Given the description of an element on the screen output the (x, y) to click on. 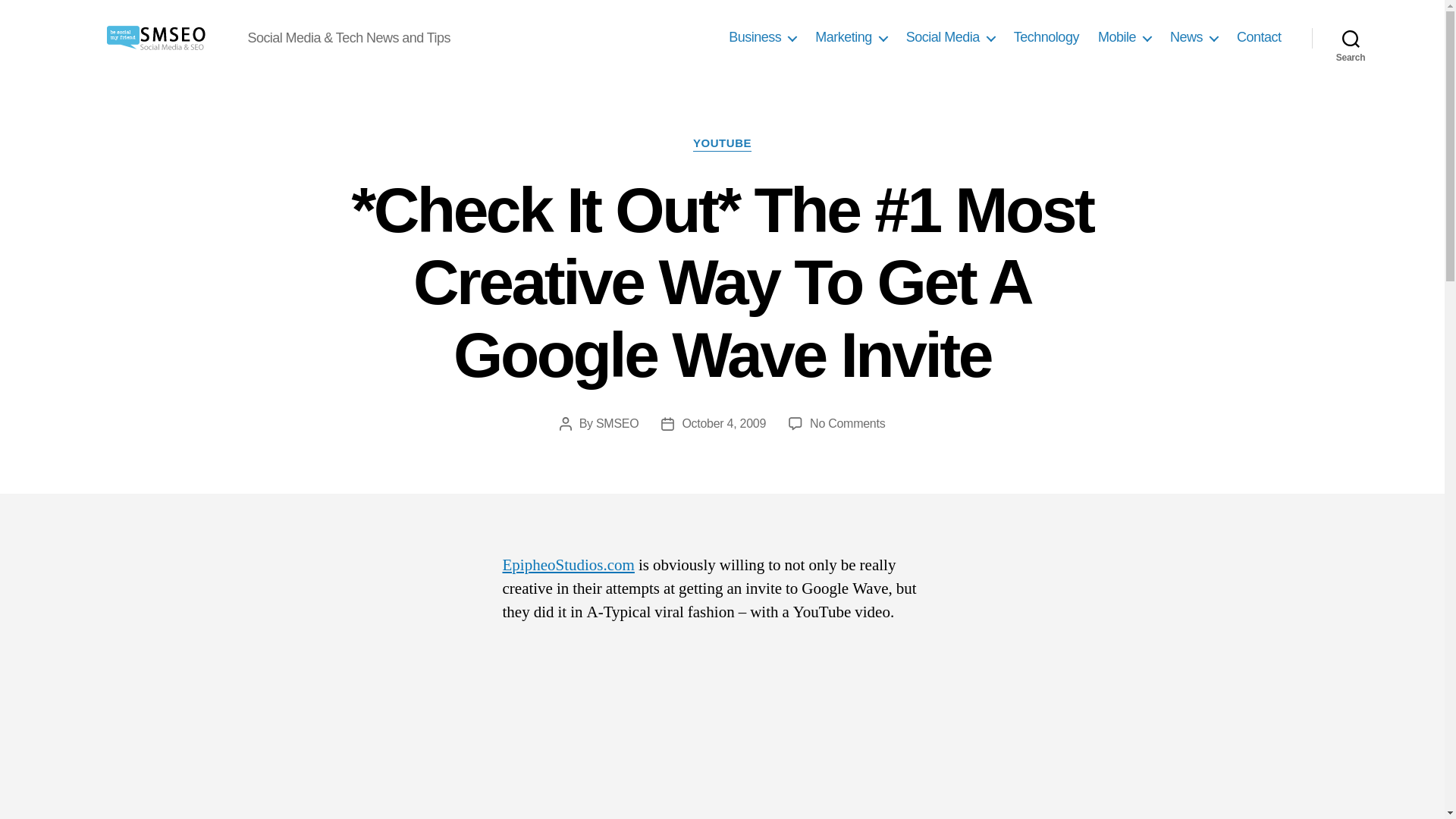
Social Media (949, 37)
Advertisement (722, 731)
Marketing (850, 37)
News (1193, 37)
Business (762, 37)
Mobile (1124, 37)
Technology (1045, 37)
Search (1350, 37)
Contact (1258, 37)
